Given the description of an element on the screen output the (x, y) to click on. 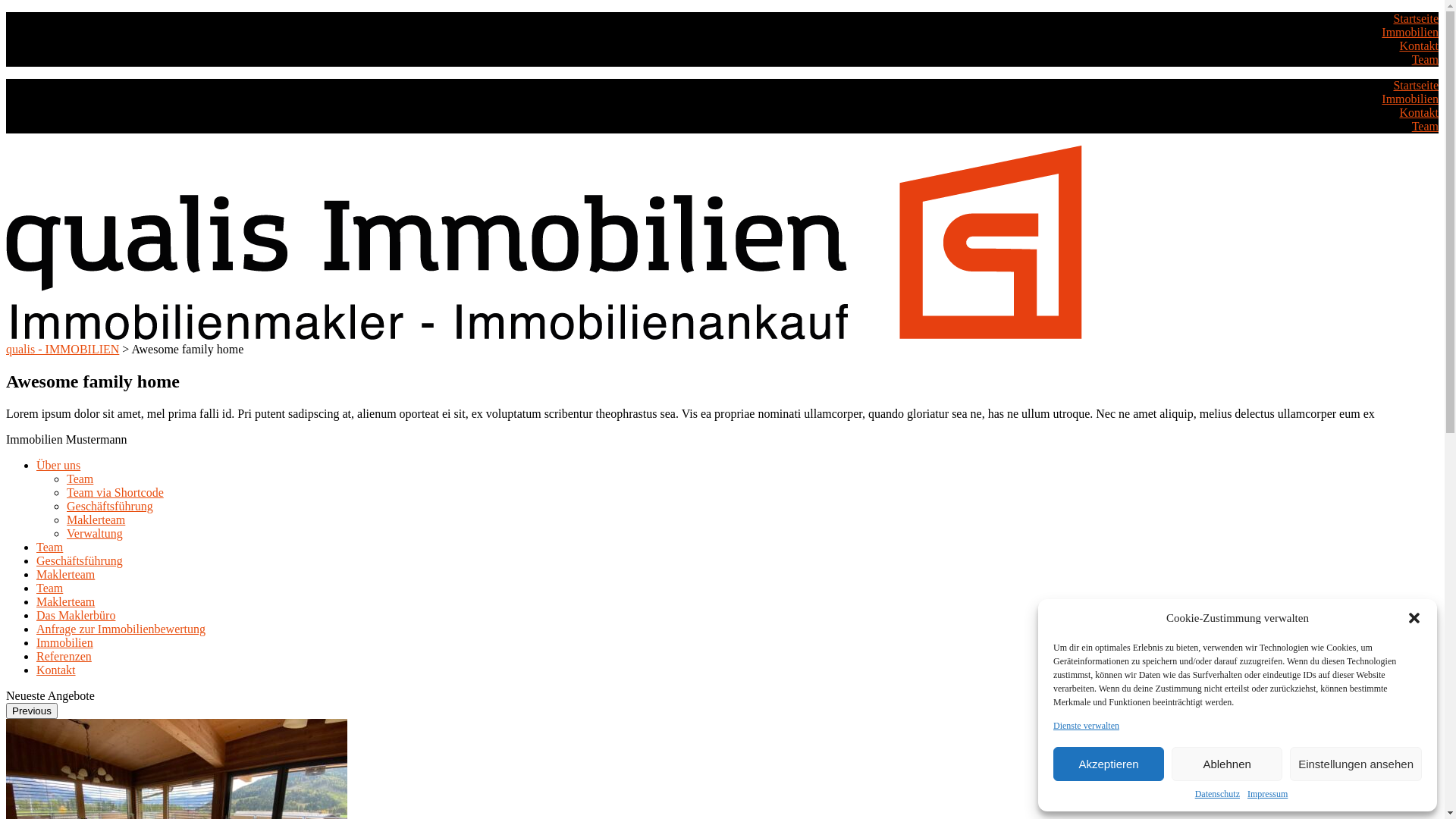
Previous Element type: text (31, 710)
Team Element type: text (49, 546)
Datenschutz Element type: text (1217, 794)
Kontakt Element type: text (1418, 112)
Homepage Element type: hover (544, 335)
Maklerteam Element type: text (95, 519)
Team Element type: text (49, 587)
Immobilien Element type: text (1409, 98)
Maklerteam Element type: text (65, 573)
Startseite Element type: text (1415, 84)
Dienste verwalten Element type: text (1086, 725)
Startseite Element type: text (1415, 18)
Anfrage zur Immobilienbewertung Element type: text (120, 628)
Einstellungen ansehen Element type: text (1355, 763)
Verwaltung Element type: text (94, 533)
Team Element type: text (79, 478)
Ablehnen Element type: text (1226, 763)
Maklerteam Element type: text (65, 601)
Immobilien Element type: text (64, 642)
Team Element type: text (1425, 125)
Immobilien Element type: text (1409, 31)
Kontakt Element type: text (55, 669)
Team via Shortcode Element type: text (114, 492)
Impressum Element type: text (1267, 794)
Kontakt Element type: text (1418, 45)
Referenzen Element type: text (63, 655)
Akzeptieren Element type: text (1108, 763)
qualis - IMMOBILIEN Element type: text (62, 348)
Team Element type: text (1425, 59)
